Given the description of an element on the screen output the (x, y) to click on. 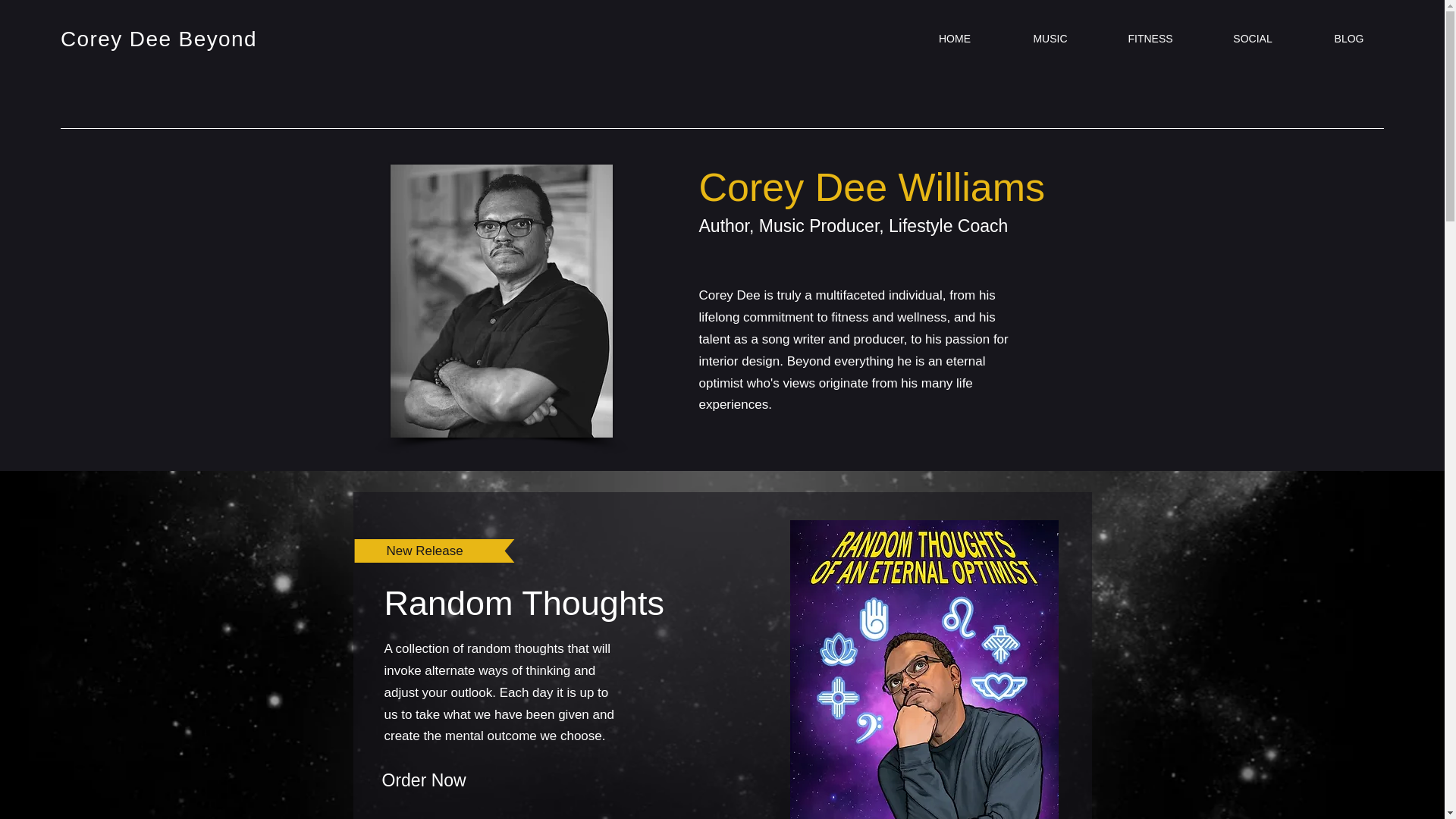
BLOG (1348, 38)
Corey Dee Beyond (159, 38)
HOME (955, 38)
FITNESS (1149, 38)
SOCIAL (1252, 38)
MUSIC (1050, 38)
